Given the description of an element on the screen output the (x, y) to click on. 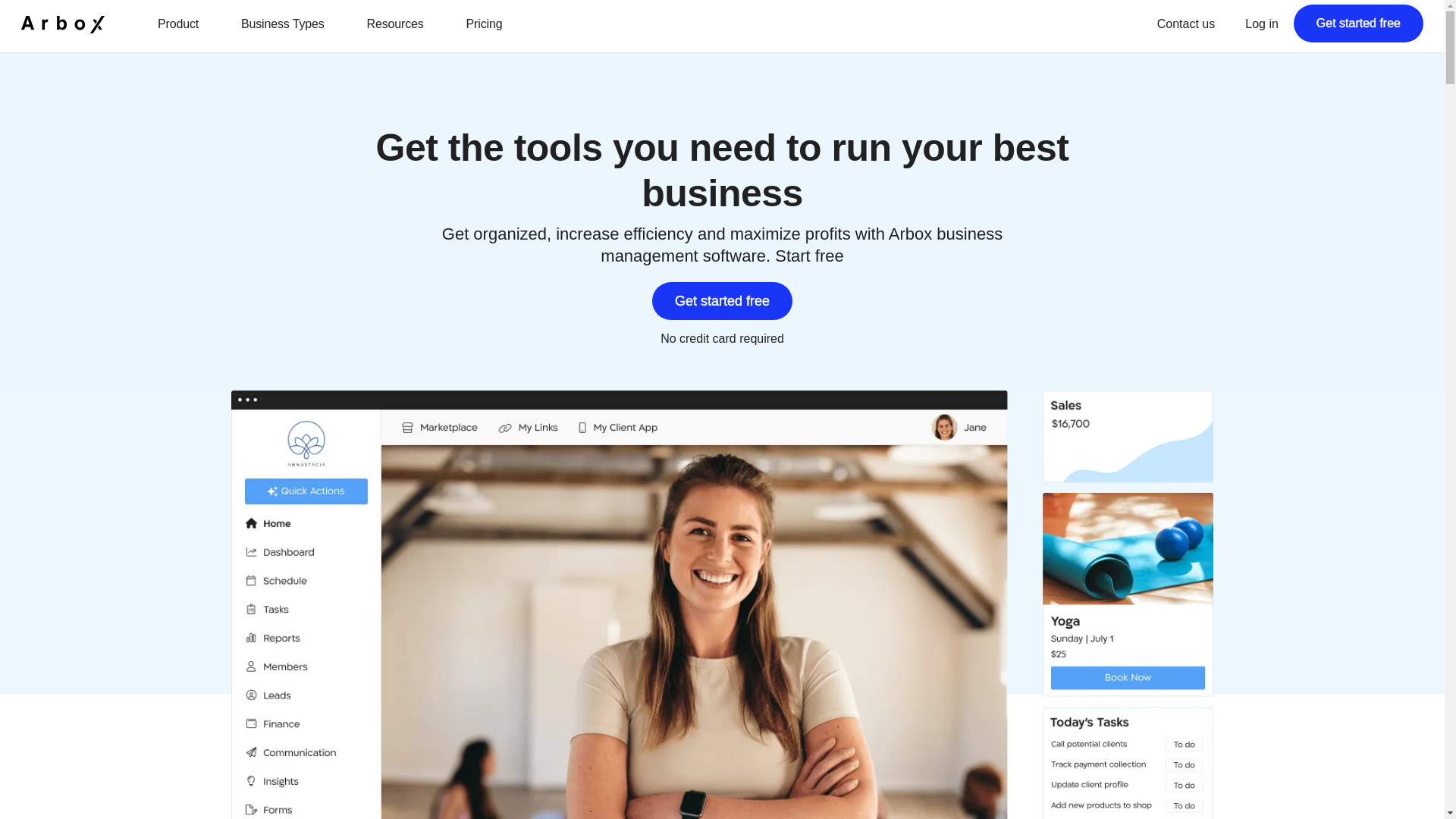
Get started free (1358, 23)
Get started free (722, 300)
Pricing (498, 24)
Log in (1261, 23)
Contact us (1185, 23)
